Given the description of an element on the screen output the (x, y) to click on. 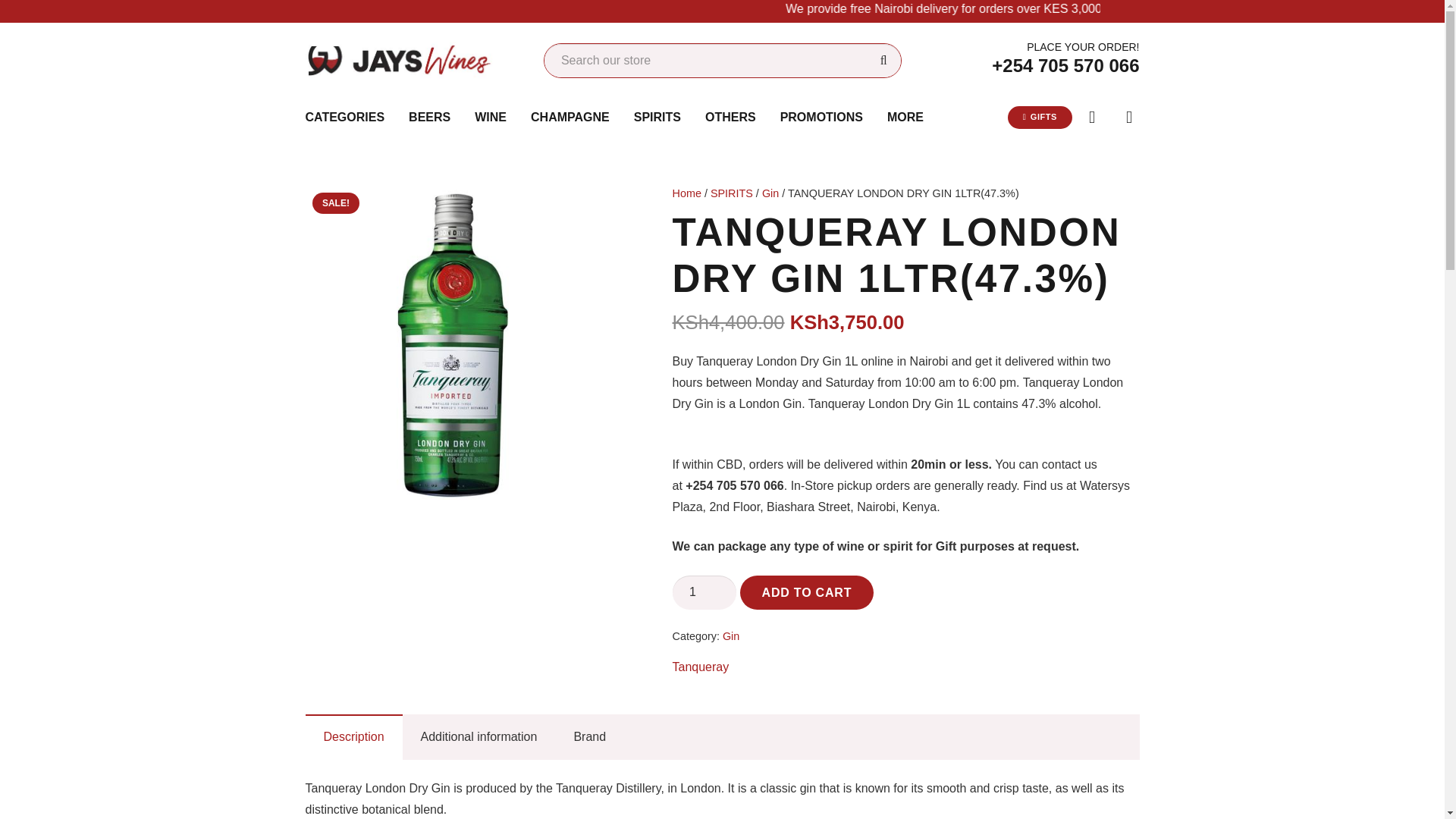
Buy Tanqueray London Dry Gin 1L online in Nairobi (462, 343)
BEERS (429, 117)
1 (703, 592)
CATEGORIES (344, 117)
View brand (700, 667)
WINE (490, 117)
